Given the description of an element on the screen output the (x, y) to click on. 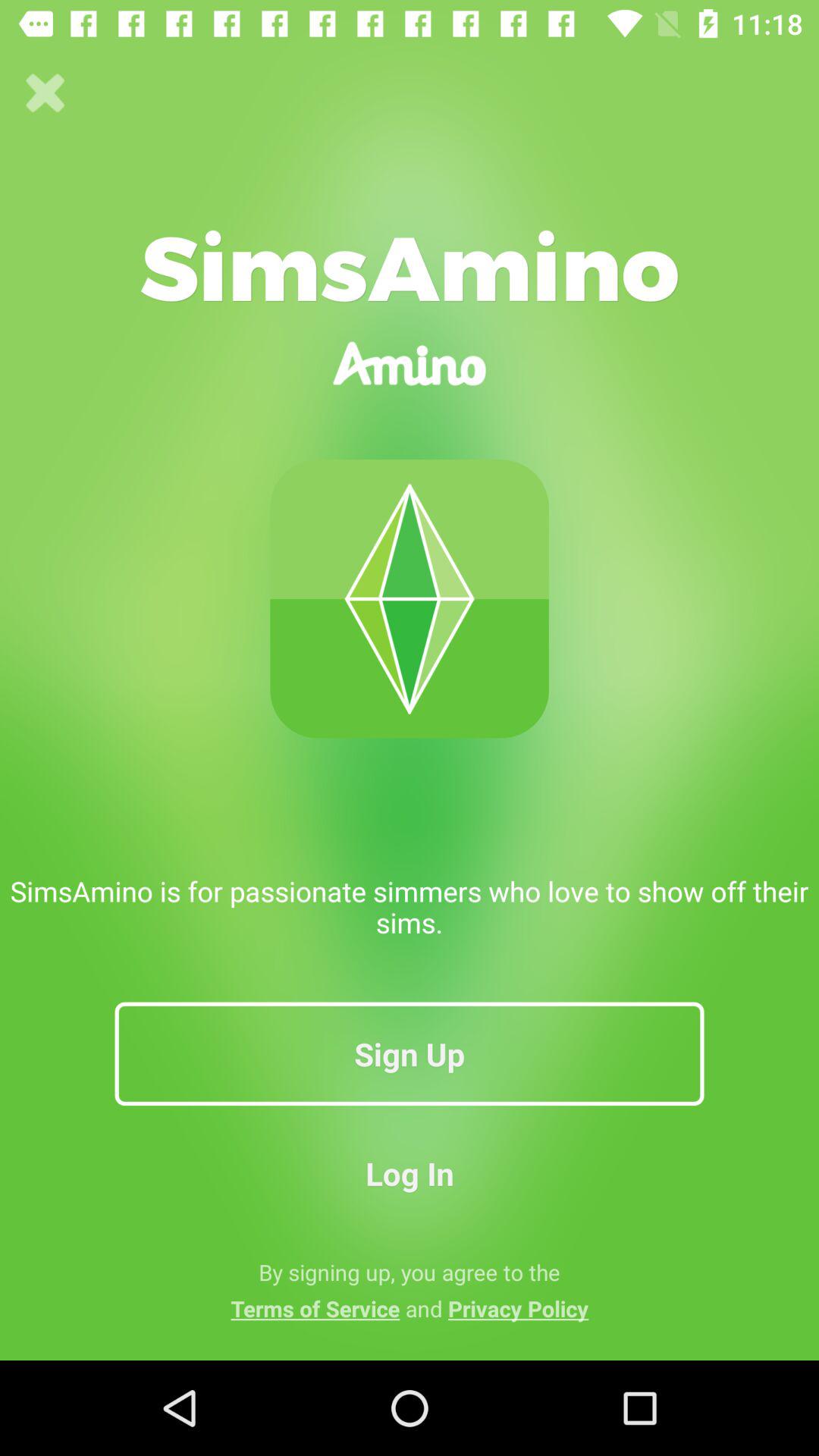
swipe until sign up (409, 1053)
